Given the description of an element on the screen output the (x, y) to click on. 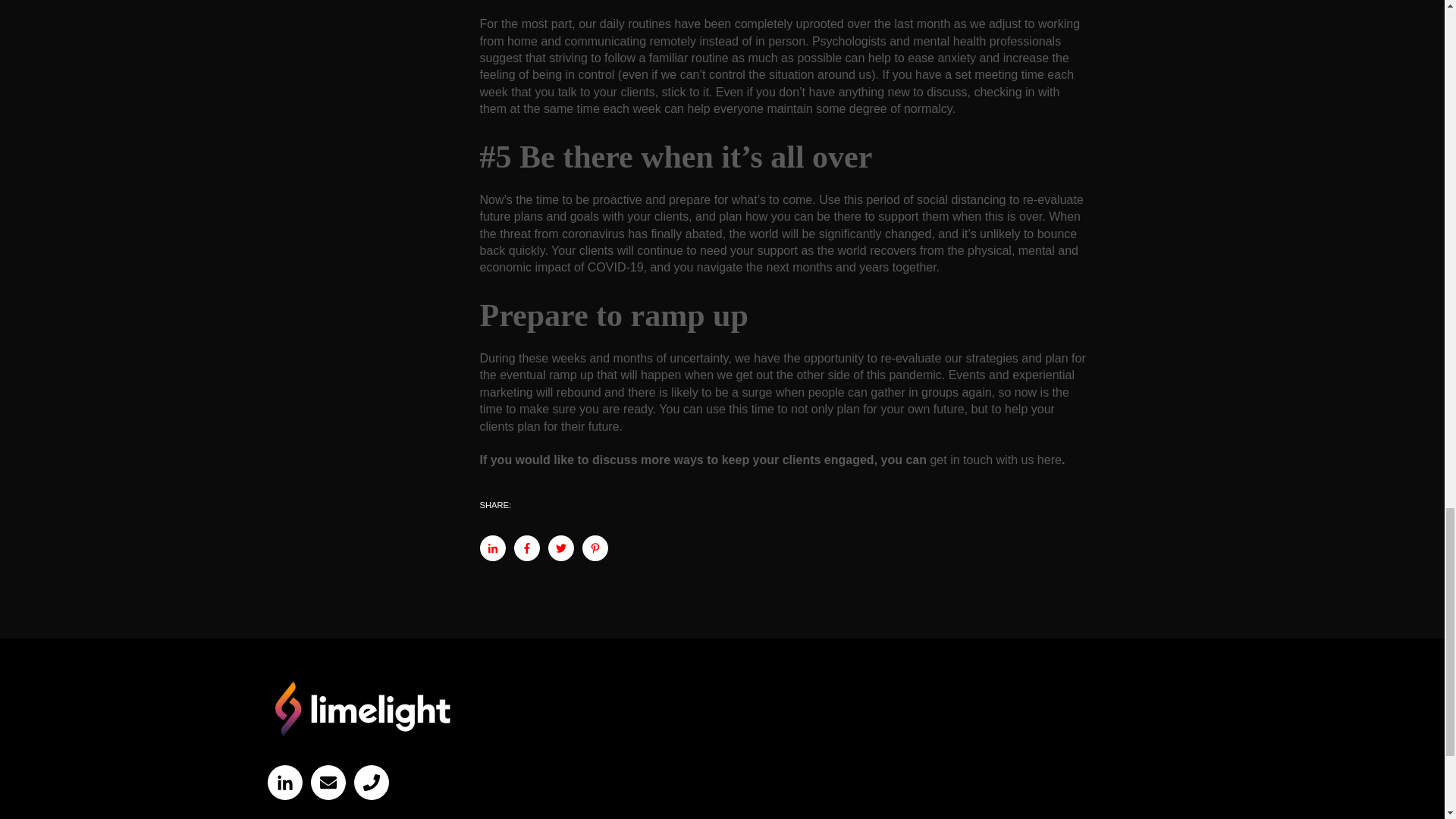
www.limelightplatform.com (361, 708)
get in touch with us here (995, 459)
striving to follow a familiar routine (638, 57)
